Given the description of an element on the screen output the (x, y) to click on. 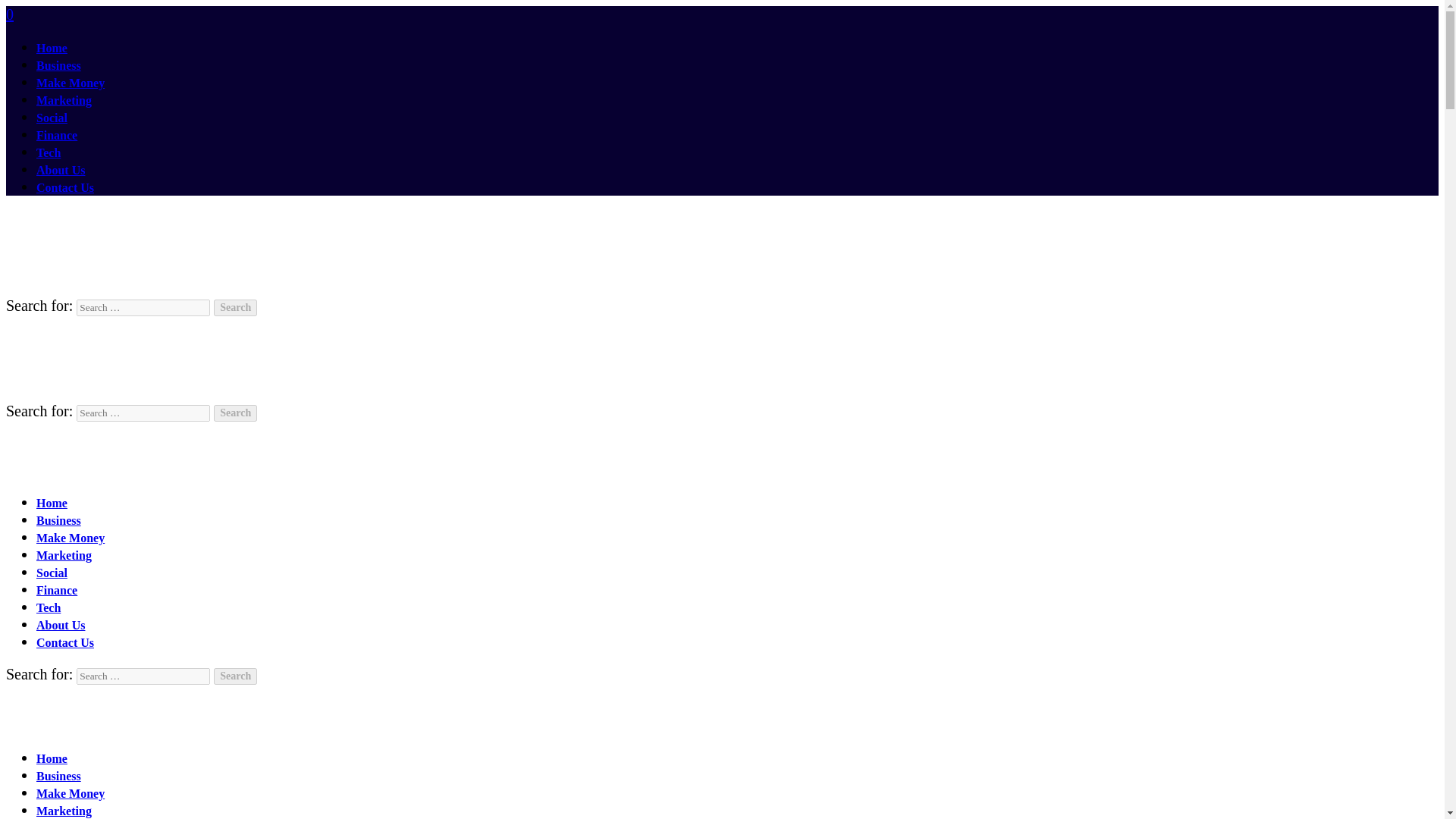
Main Path (90, 469)
Search (235, 676)
Home (51, 47)
Finance (56, 134)
Business (58, 65)
Make Money (70, 82)
Social (51, 117)
Marketing (63, 100)
Business (58, 775)
Main Path (90, 724)
About Us (60, 625)
Search (235, 307)
Search (235, 412)
Search (235, 412)
Search (235, 412)
